Given the description of an element on the screen output the (x, y) to click on. 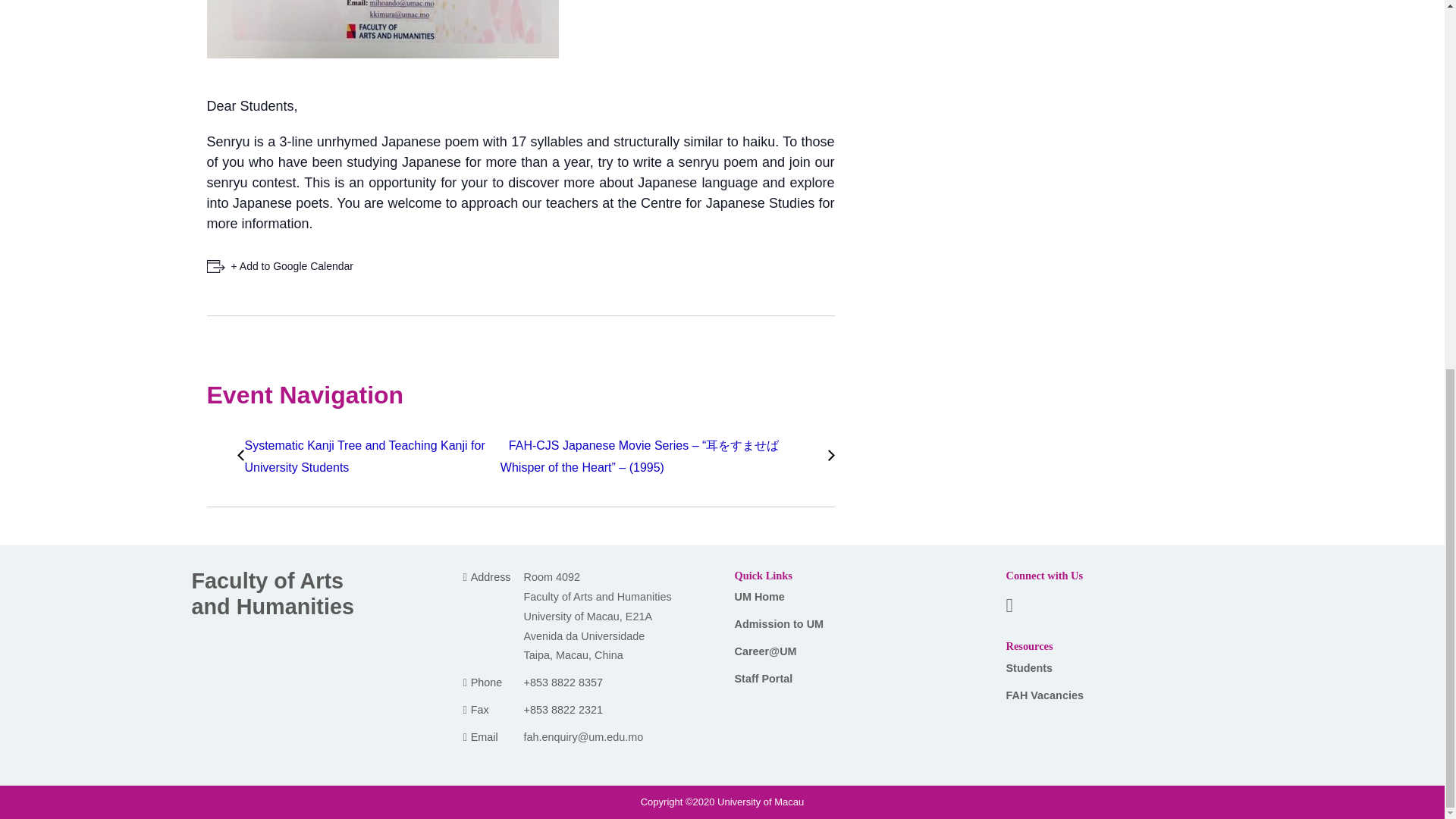
Add to Google Calendar (279, 266)
